Given the description of an element on the screen output the (x, y) to click on. 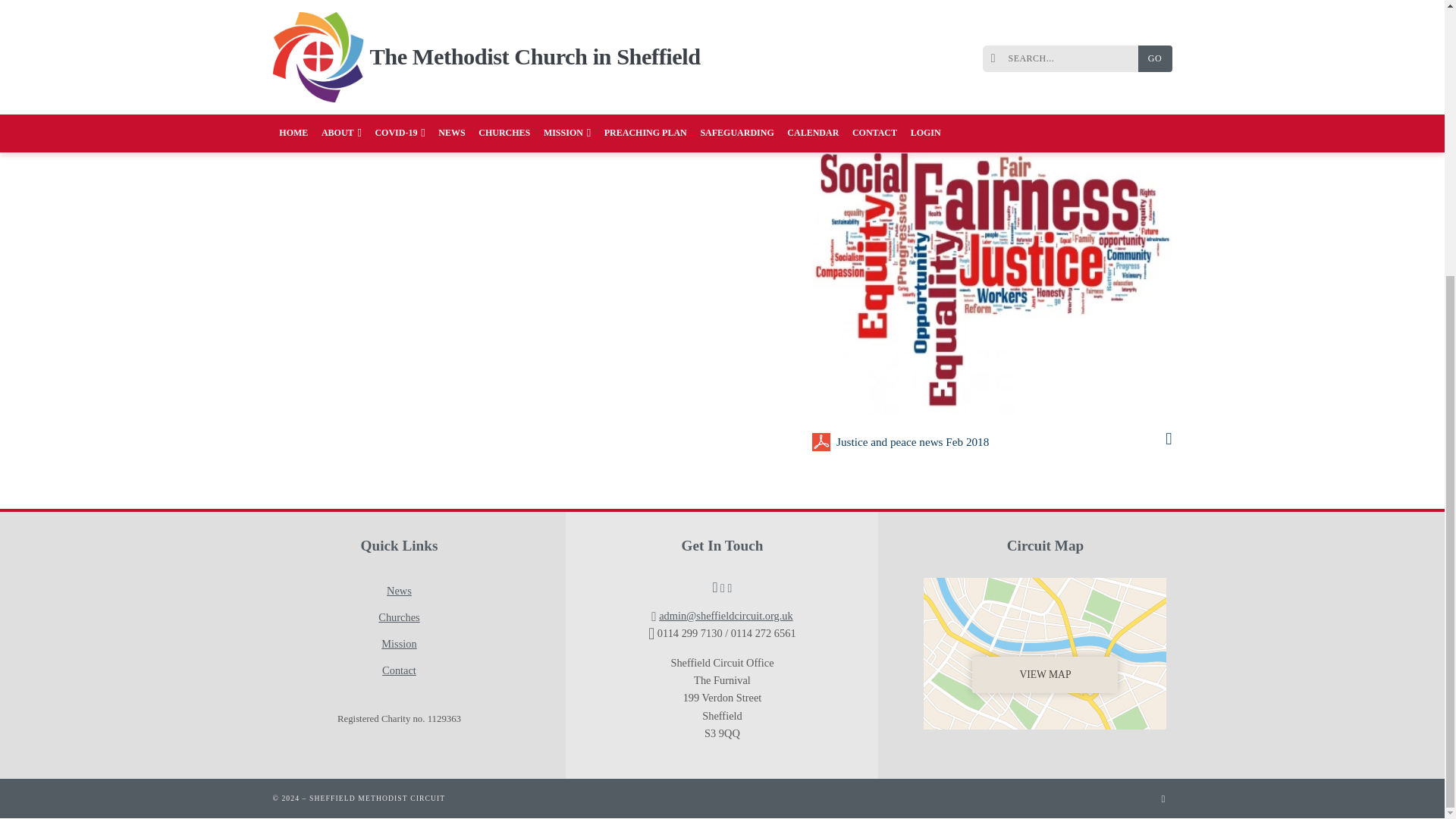
Justice and peace news Feb 2018 (1000, 442)
Download: Justice and peace news Feb 2018 (1000, 442)
Churches (398, 617)
News (398, 591)
